Given the description of an element on the screen output the (x, y) to click on. 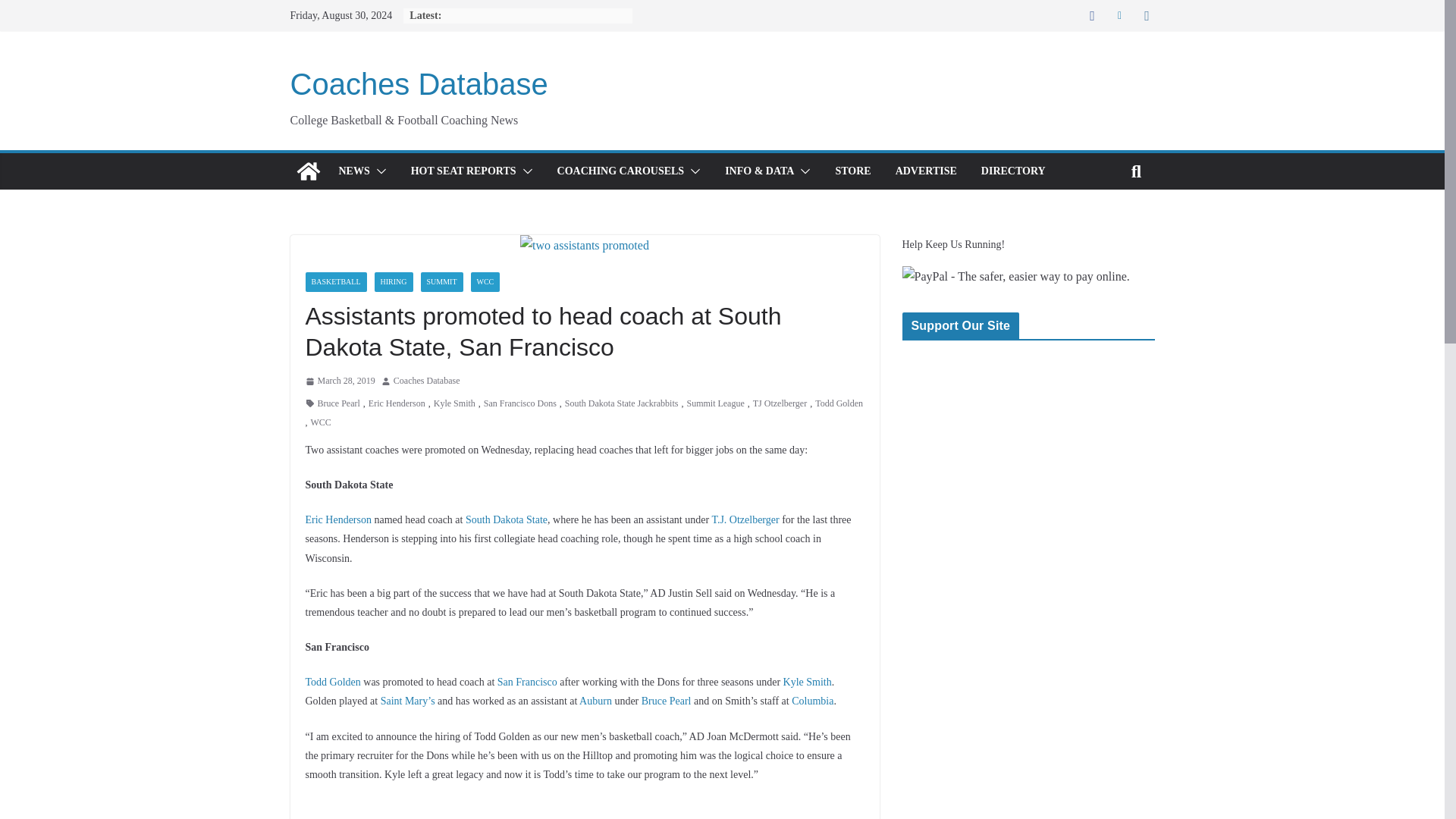
Coaches Database (418, 83)
STORE (852, 170)
COACHING CAROUSELS (620, 170)
ADVERTISE (925, 170)
BASKETBALL (335, 281)
March 28, 2019 (339, 381)
Kyle Smith (454, 403)
Bruce Pearl (338, 403)
Coaches Database (418, 83)
Coaches Database (307, 171)
